Given the description of an element on the screen output the (x, y) to click on. 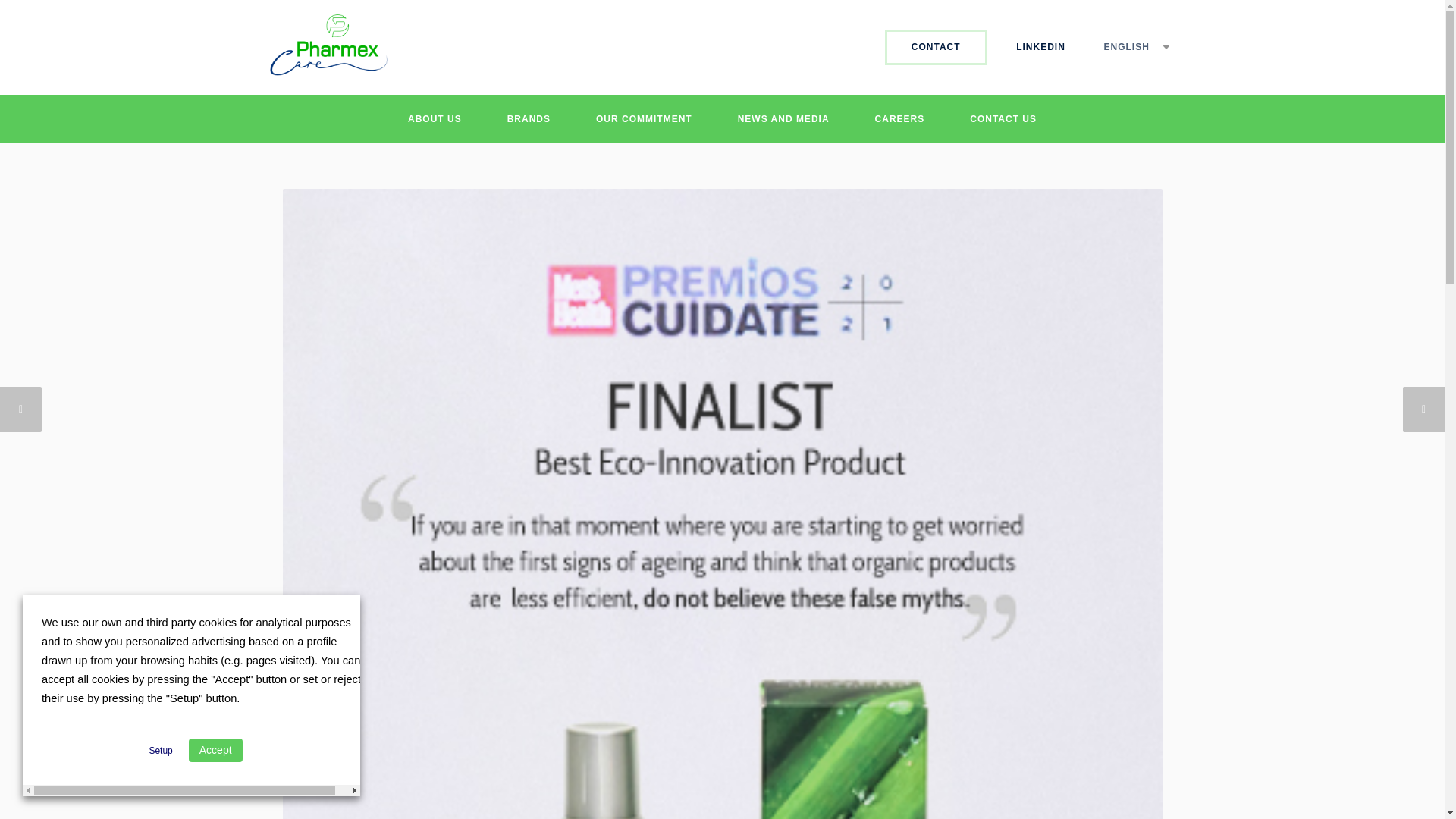
CONTACT (936, 46)
CONTACT US (1002, 118)
NEWS AND MEDIA (783, 118)
LINKEDIN (1041, 46)
CAREERS (899, 118)
OUR COMMITMENT (644, 118)
ABOUT US (434, 118)
BRANDS (528, 118)
